Given the description of an element on the screen output the (x, y) to click on. 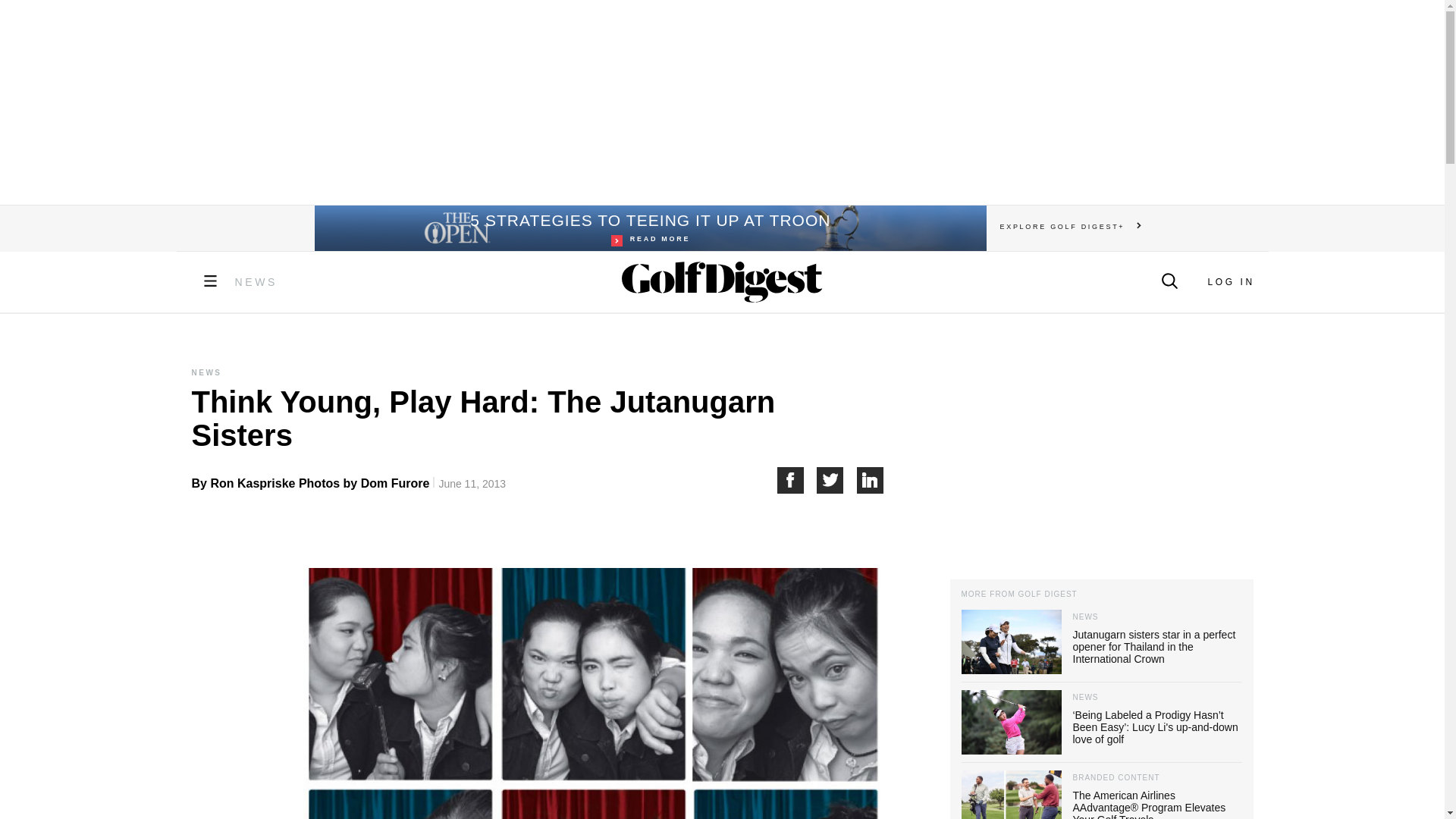
LOG IN (649, 227)
Share on Facebook (1230, 281)
3rd party ad content (796, 479)
3rd party ad content (721, 101)
NEWS (1100, 453)
Share on Twitter (256, 282)
Share on LinkedIn (836, 479)
